Given the description of an element on the screen output the (x, y) to click on. 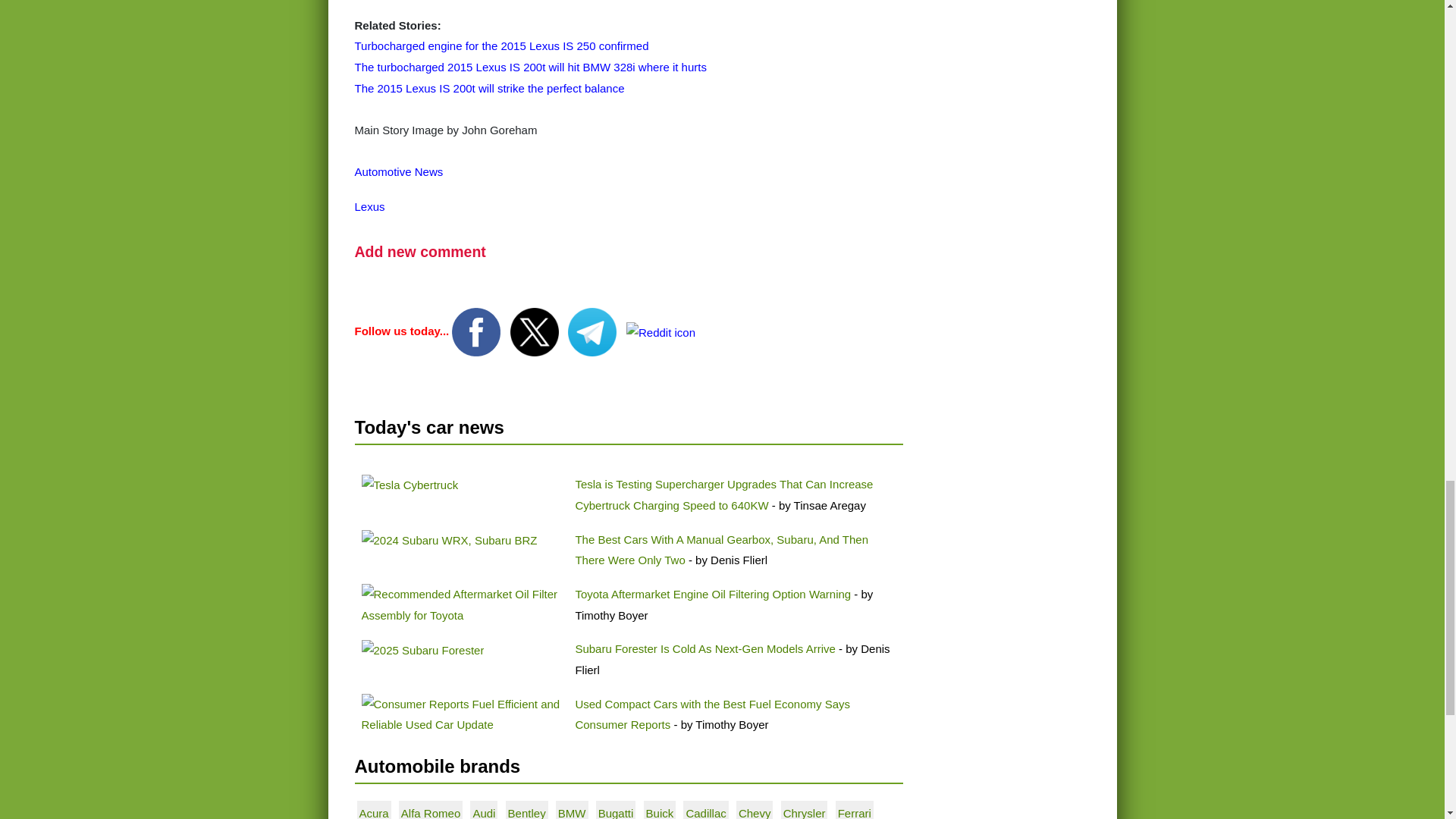
Join us on Telegram! (593, 330)
Share your thoughts and opinions. (420, 251)
Toyota Aftermarket Engine Oil Filtering Option Warning (712, 594)
Join us on Reddit! (660, 330)
The 2015 Lexus IS 200t will strike the perfect balance (489, 88)
2024 Subaru WRX and Subaru BRZ at the track (449, 540)
Turbocharged engine for the 2015 Lexus IS 250 confirmed (502, 45)
Automotive News (399, 171)
Best Fuel Sipping Models with Proven Reliability (461, 714)
Add new comment (420, 251)
